Given the description of an element on the screen output the (x, y) to click on. 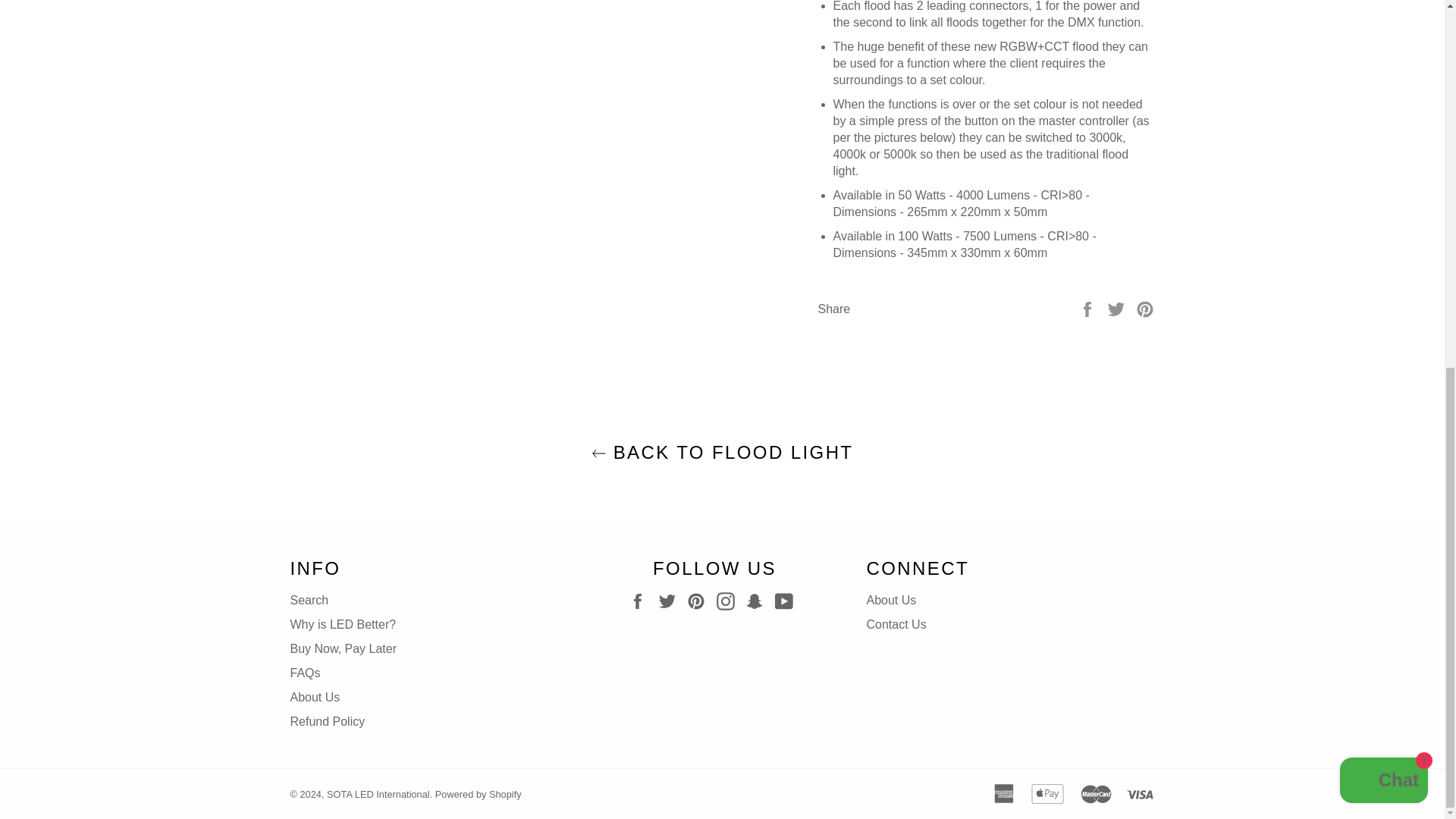
SOTA LED International on Facebook (640, 601)
SOTA LED International on Twitter (671, 601)
Pin on Pinterest (1144, 308)
SOTA LED International on Pinterest (700, 601)
Tweet on Twitter (1117, 308)
SOTA LED International on Snapchat (758, 601)
Shopify online store chat (1383, 117)
SOTA LED International on YouTube (787, 601)
Share on Facebook (1088, 308)
SOTA LED International on Instagram (729, 601)
